Given the description of an element on the screen output the (x, y) to click on. 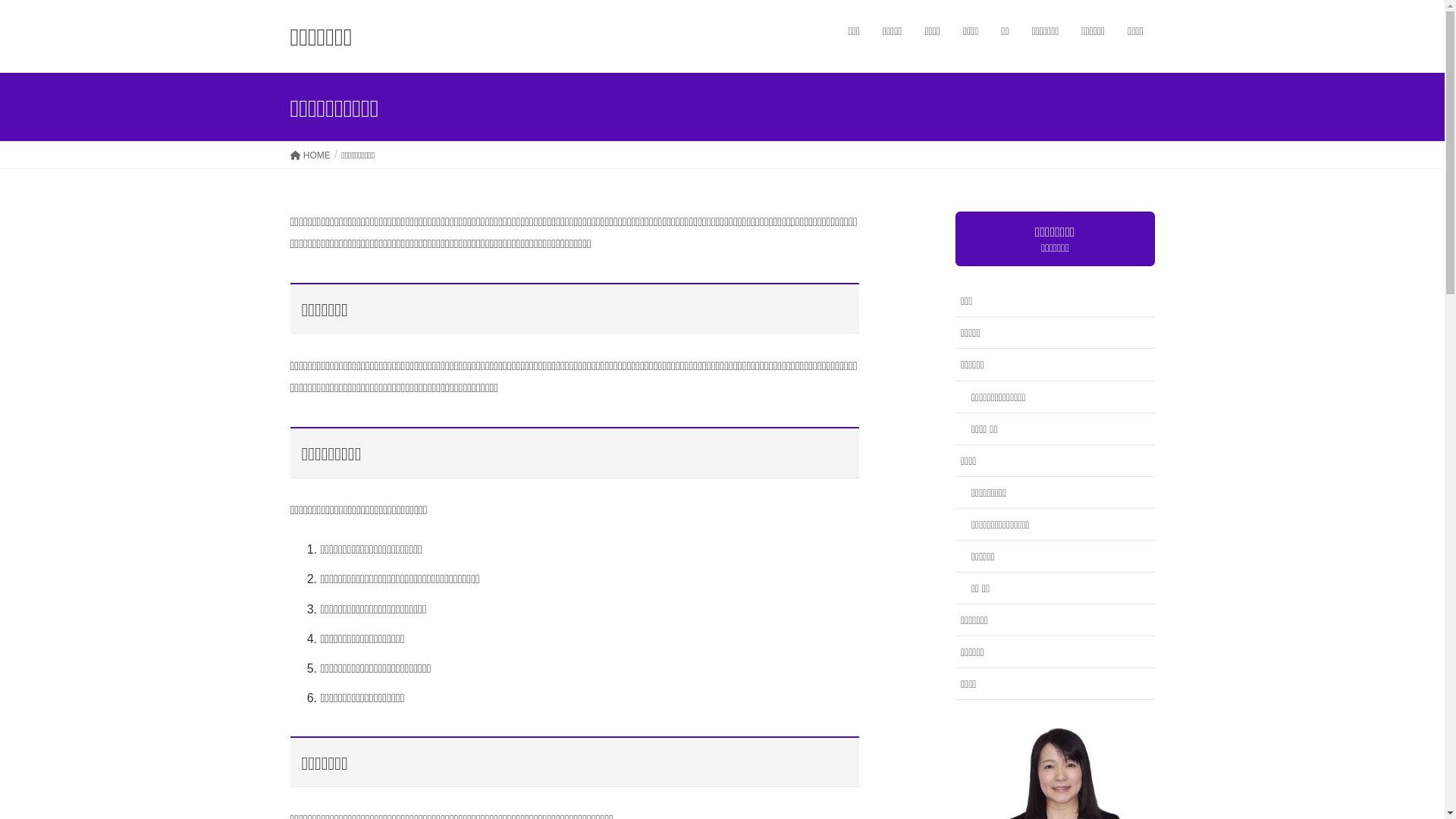
HOME Element type: text (309, 154)
